Given the description of an element on the screen output the (x, y) to click on. 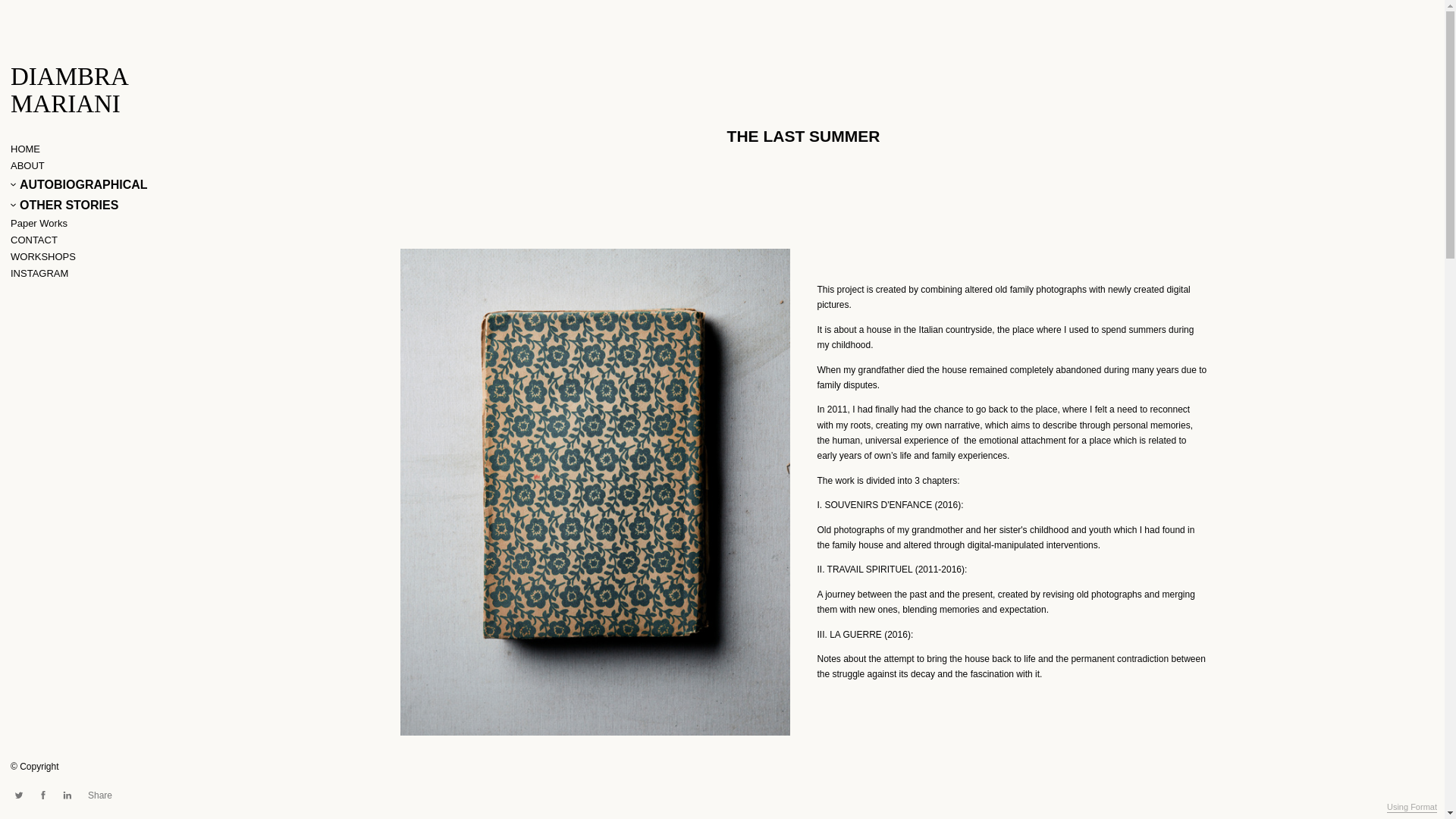
LinkedIn (67, 795)
AUTOBIOGRAPHICAL (79, 184)
HOME (25, 149)
OTHER STORIES (63, 204)
Share (99, 795)
Facebook (42, 795)
Paper Works (38, 223)
CONTACT (34, 239)
INSTAGRAM (39, 273)
